Given the description of an element on the screen output the (x, y) to click on. 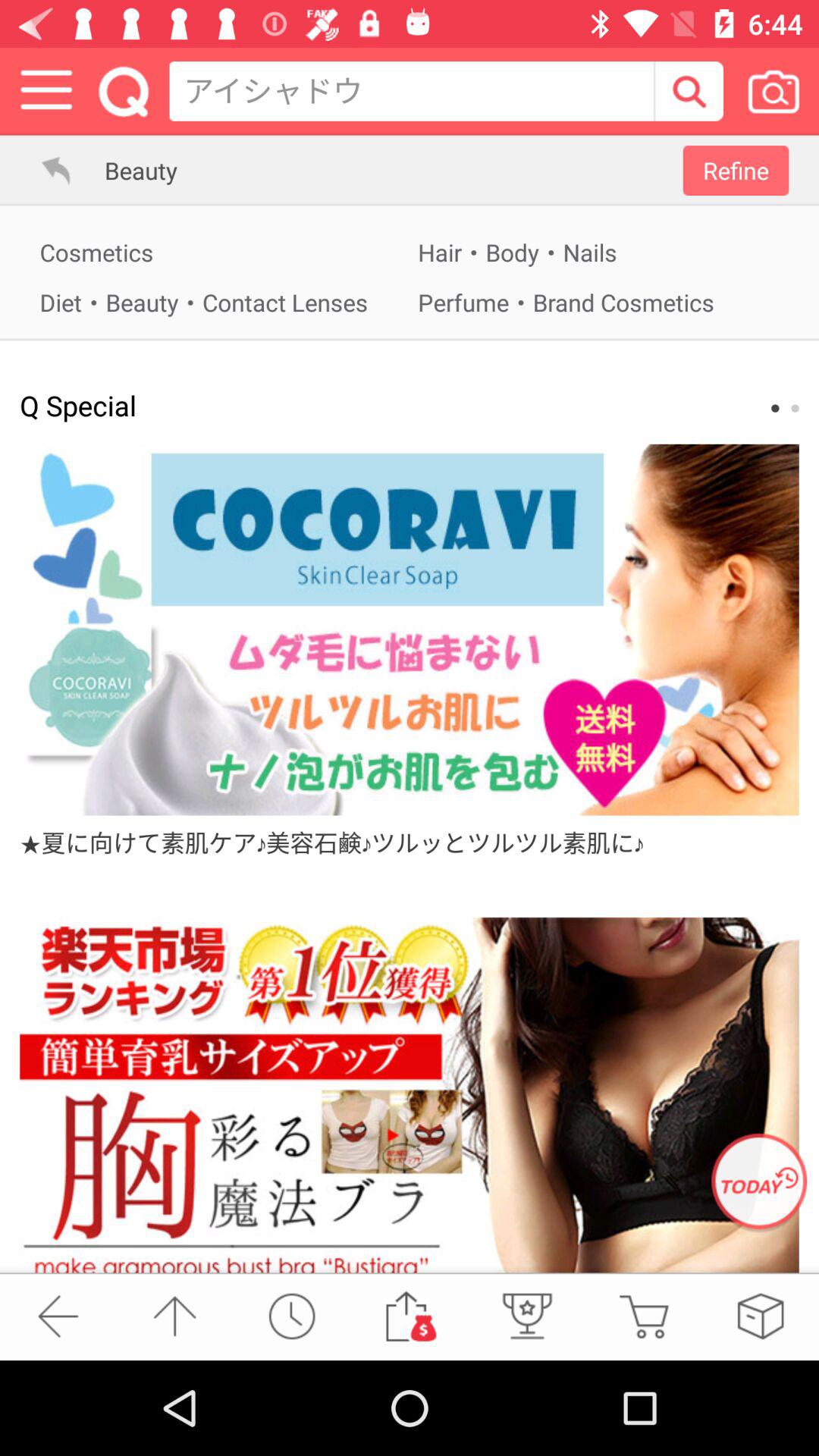
to the gift voucher (408, 1316)
